Given the description of an element on the screen output the (x, y) to click on. 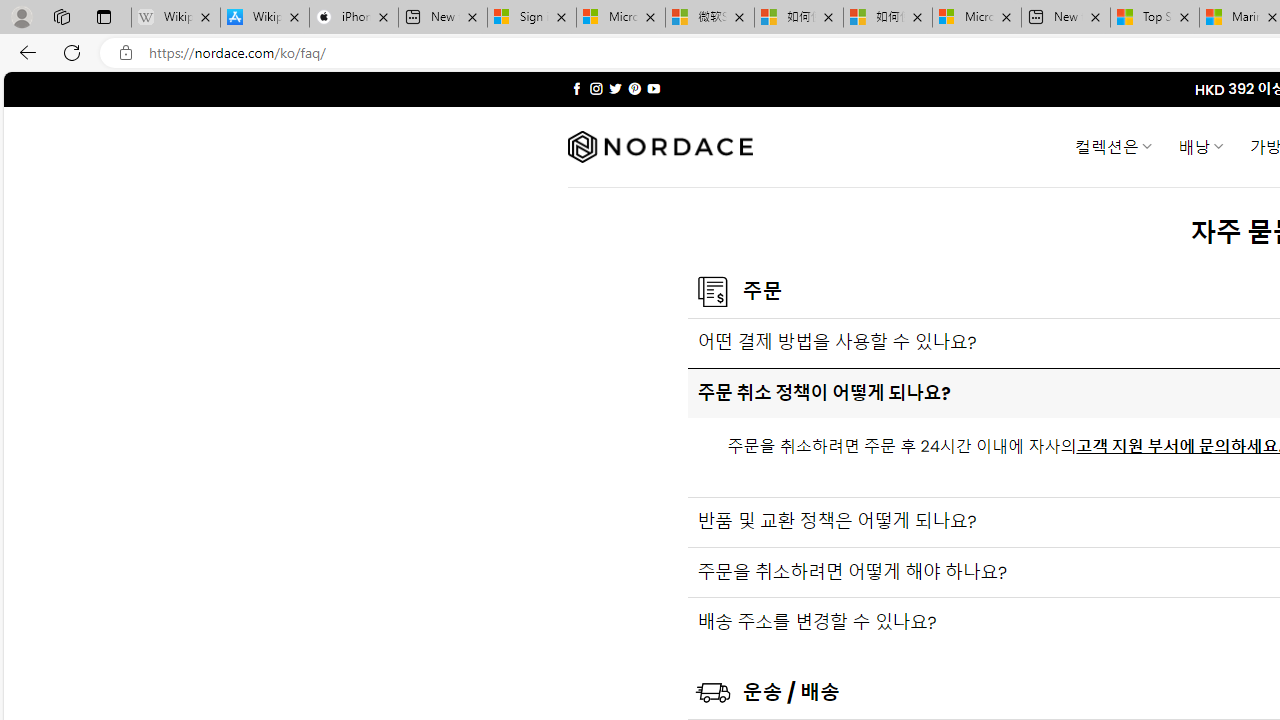
Follow on Facebook (576, 88)
Microsoft account | Account Checkup (977, 17)
Follow on Twitter (615, 88)
Follow on Instagram (596, 88)
Follow on YouTube (653, 88)
Follow on Pinterest (634, 88)
